Given the description of an element on the screen output the (x, y) to click on. 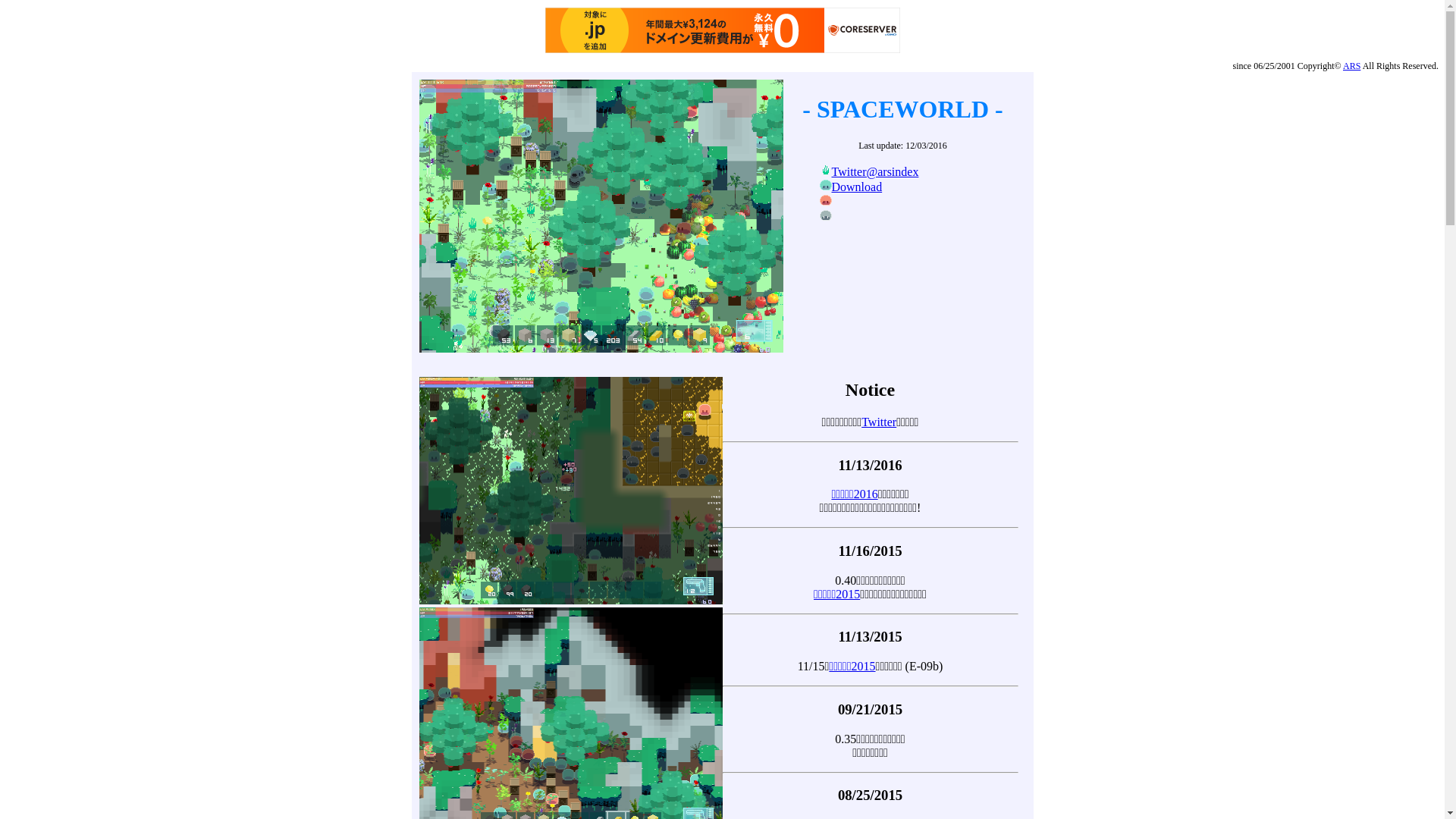
Twitter Element type: text (878, 421)
Download Element type: text (856, 186)
ARS Element type: text (1351, 65)
Twitter@arsindex Element type: text (874, 171)
